Given the description of an element on the screen output the (x, y) to click on. 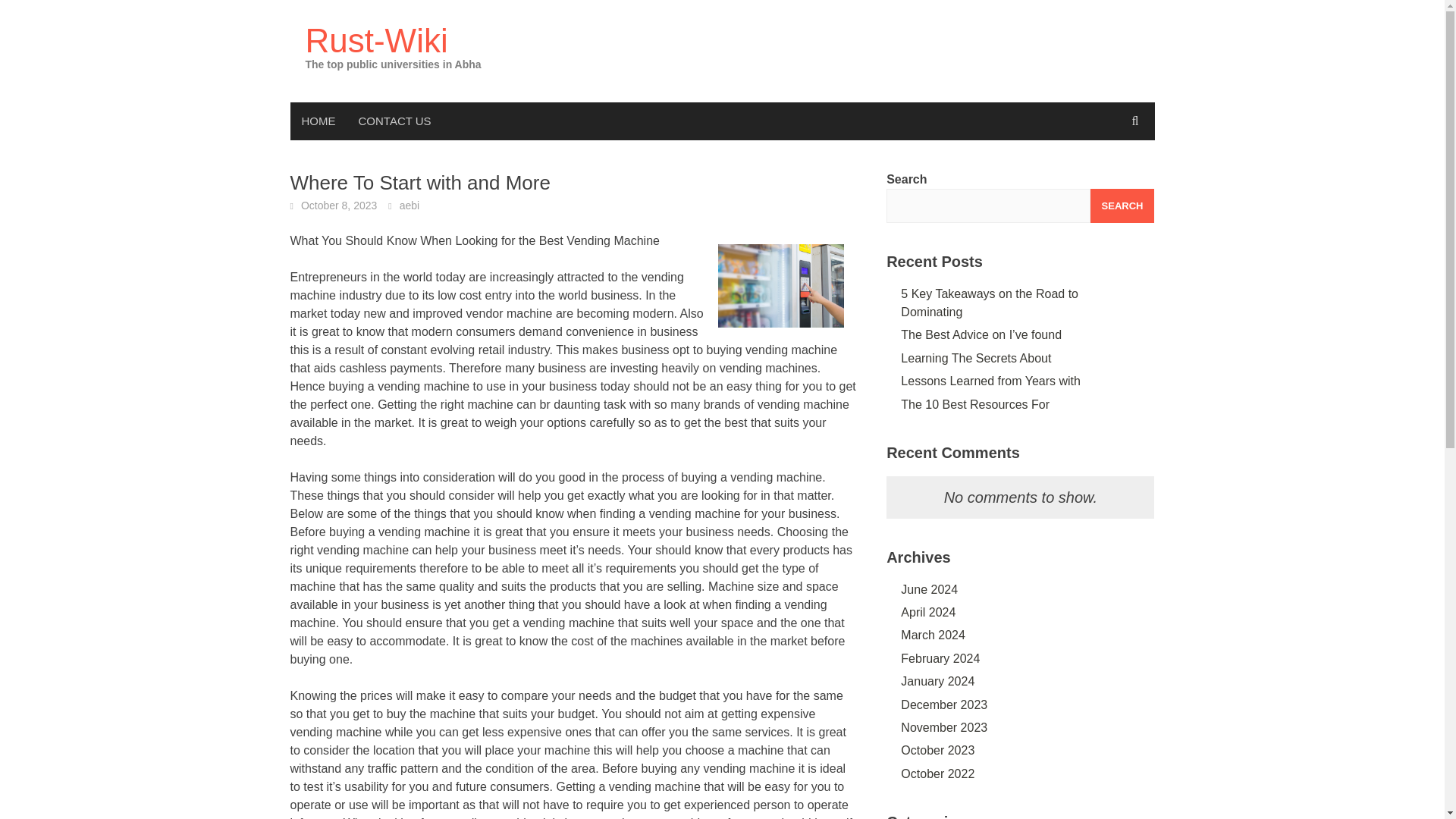
Learning The Secrets About (976, 358)
February 2024 (940, 658)
November 2023 (944, 727)
March 2024 (933, 634)
Lessons Learned from Years with (990, 380)
April 2024 (928, 612)
The 10 Best Resources For (975, 404)
December 2023 (944, 704)
HOME (317, 121)
June 2024 (929, 589)
Rust-Wiki (375, 40)
October 2023 (937, 749)
CONTACT US (394, 121)
October 2022 (937, 773)
aebi (408, 205)
